Given the description of an element on the screen output the (x, y) to click on. 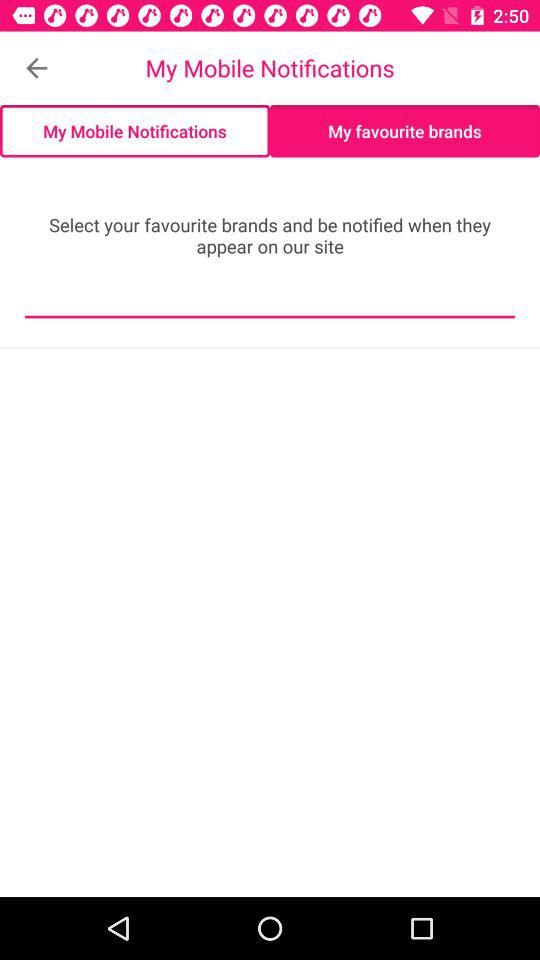
tap the item next to the my mobile notifications icon (36, 68)
